Given the description of an element on the screen output the (x, y) to click on. 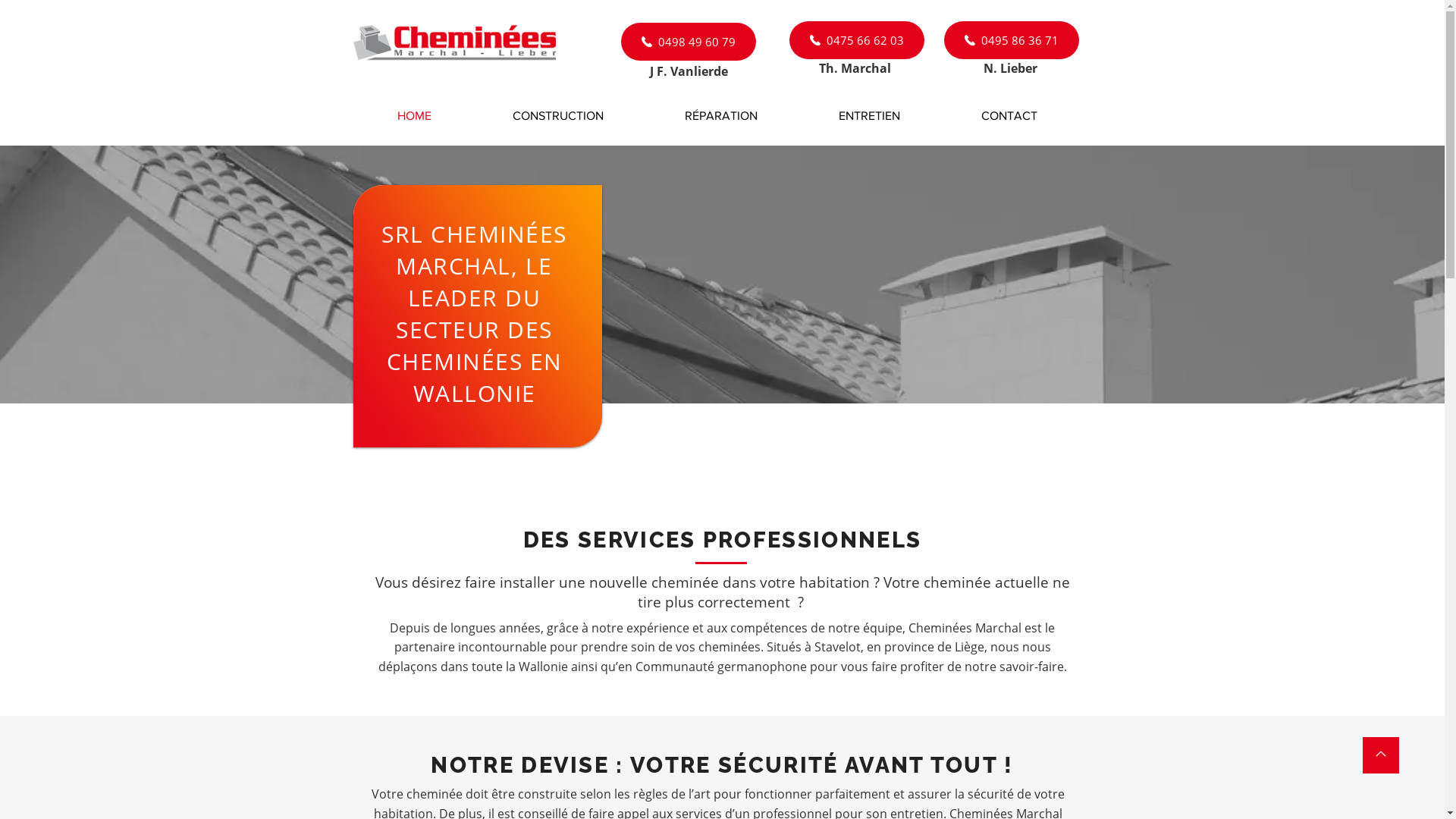
0475 66 62 03 Element type: text (855, 40)
CONSTRUCTION Element type: text (557, 115)
0495 86 36 71 Element type: text (1010, 40)
HOME Element type: text (413, 115)
ENTRETIEN Element type: text (868, 115)
0498 49 60 79 Element type: text (687, 41)
CONTACT Element type: text (1008, 115)
